Given the description of an element on the screen output the (x, y) to click on. 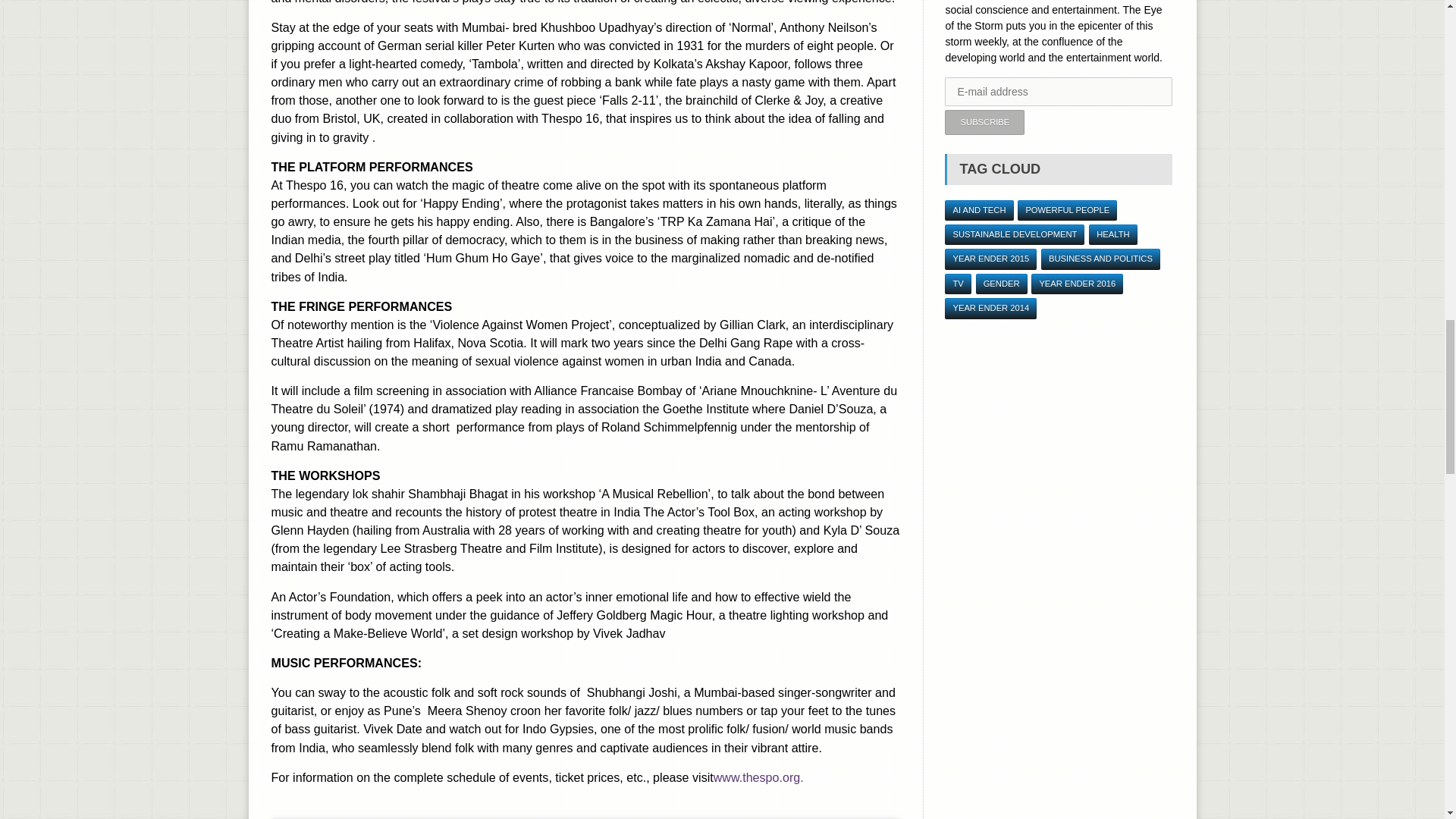
Subscribe (984, 122)
